Given the description of an element on the screen output the (x, y) to click on. 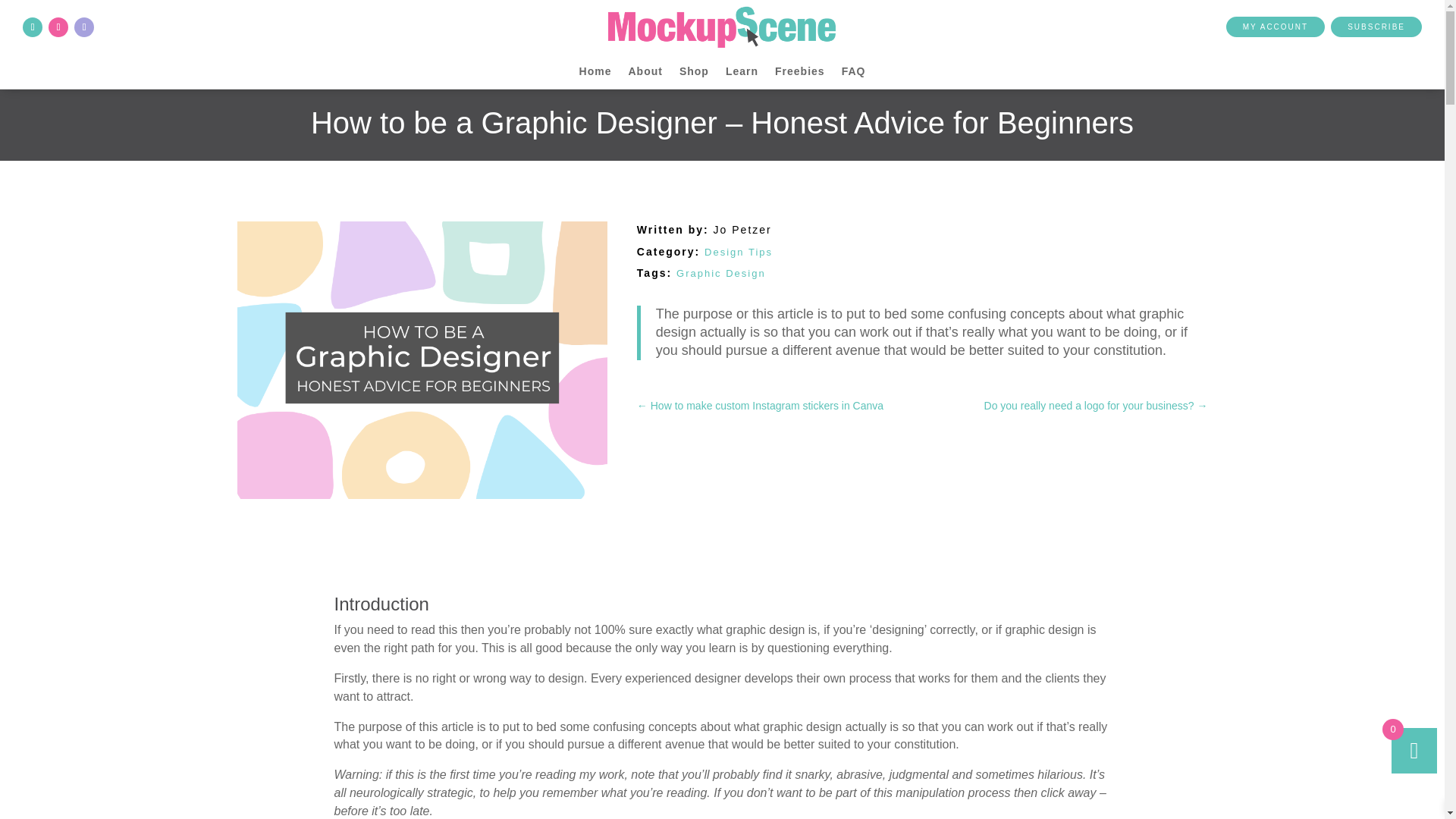
SUBSCRIBE (1376, 26)
Graphic Design (721, 273)
Follow on Facebook (32, 26)
Design Tips (738, 251)
About (644, 74)
Follow on Instagram (58, 26)
Shop (694, 74)
Learn (741, 74)
Follow on Pinterest (84, 26)
Home (595, 74)
